Given the description of an element on the screen output the (x, y) to click on. 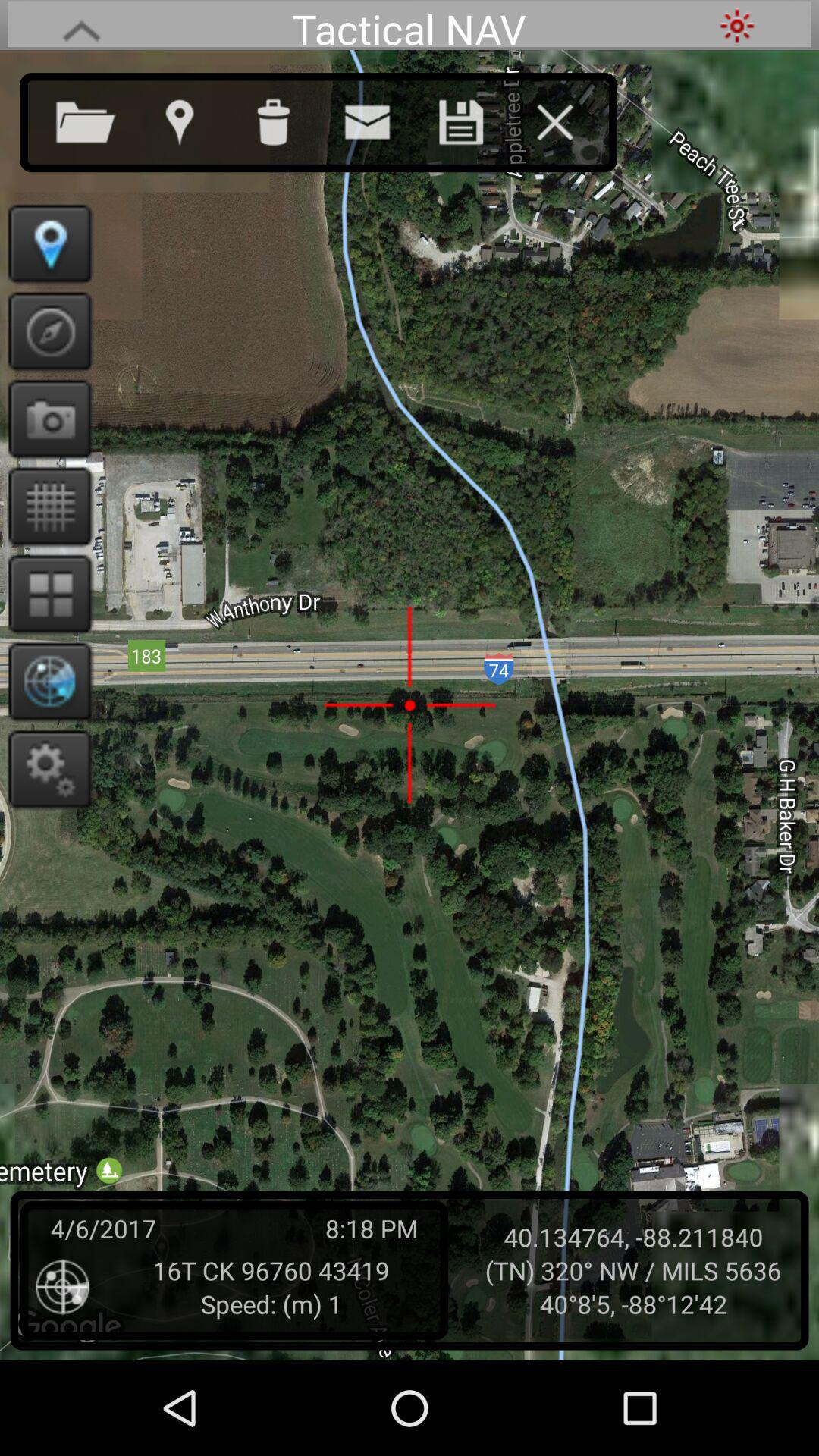
exact location (45, 243)
